Given the description of an element on the screen output the (x, y) to click on. 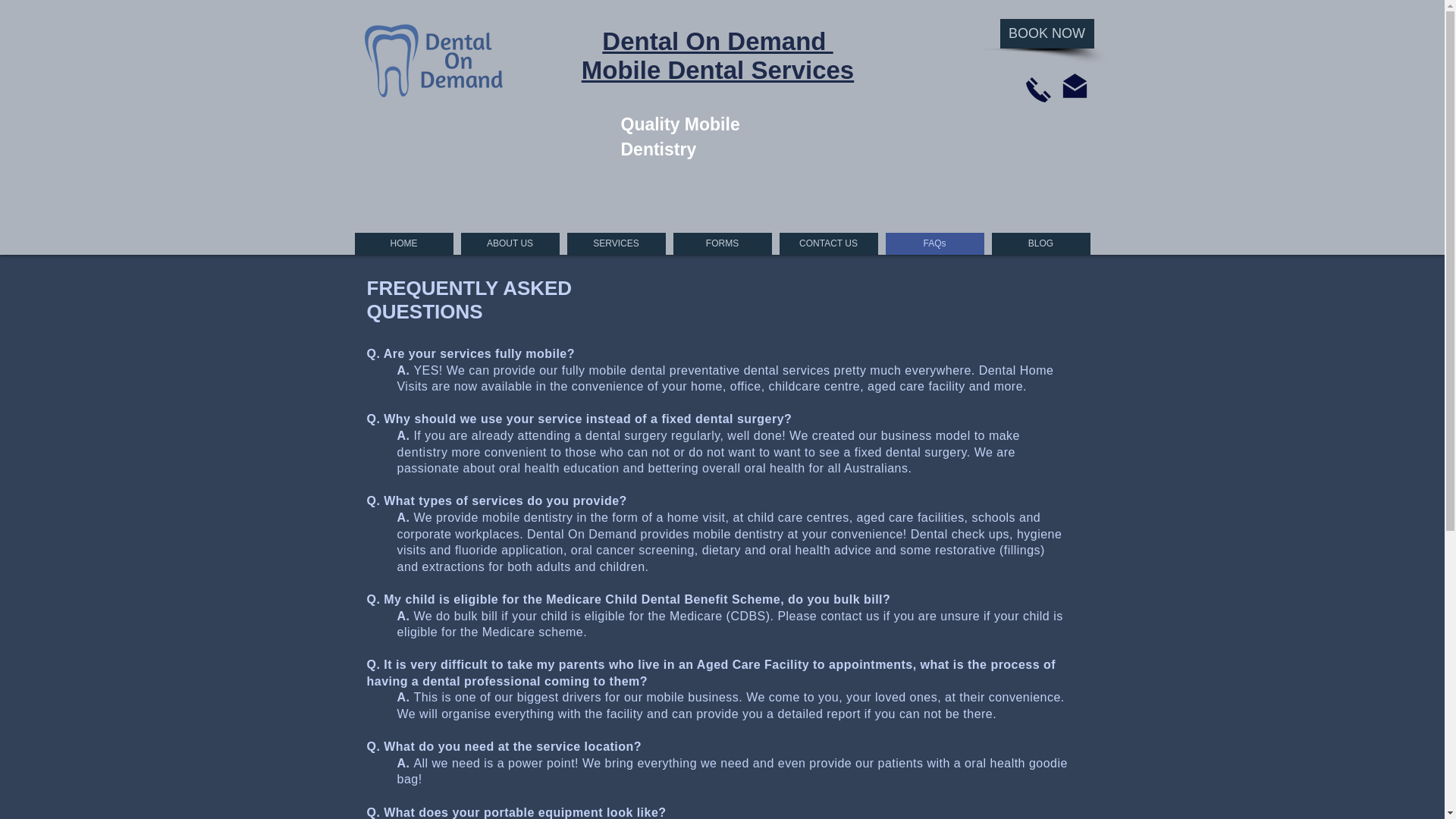
BOOK NOW (1045, 33)
BLOG (716, 55)
CONTACT US (1040, 243)
Quality Mobile Dentistry (827, 243)
ABOUT US (679, 136)
FORMS (510, 243)
FAQs (721, 243)
SERVICES (934, 243)
HOME (616, 243)
